Given the description of an element on the screen output the (x, y) to click on. 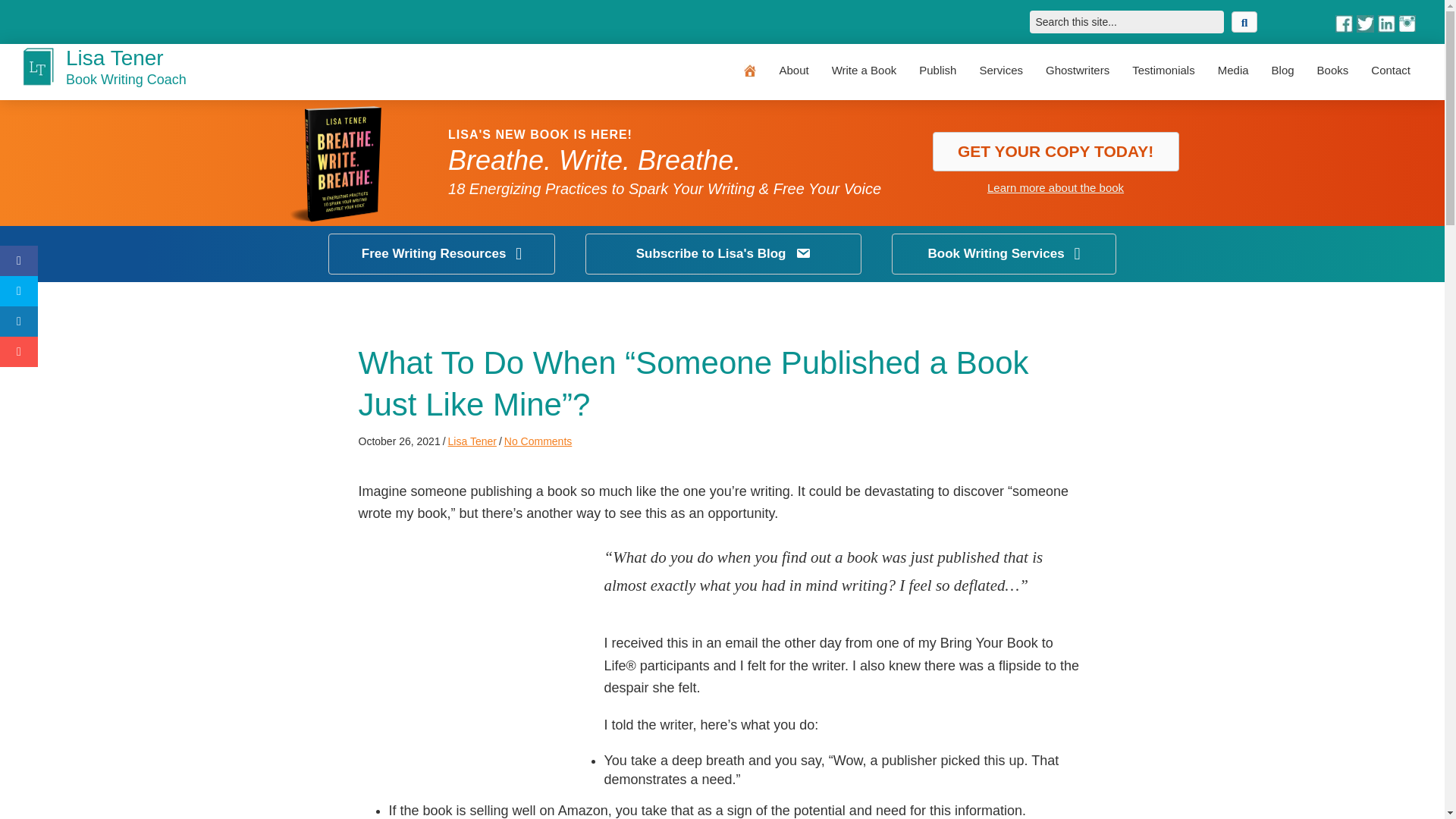
Services (1000, 70)
About (793, 70)
Ghostwriters (1077, 70)
Testimonials (1164, 70)
Contact (1390, 70)
Blog (1283, 70)
Books (1332, 70)
Write a Book (864, 70)
Media (1233, 70)
